Given the description of an element on the screen output the (x, y) to click on. 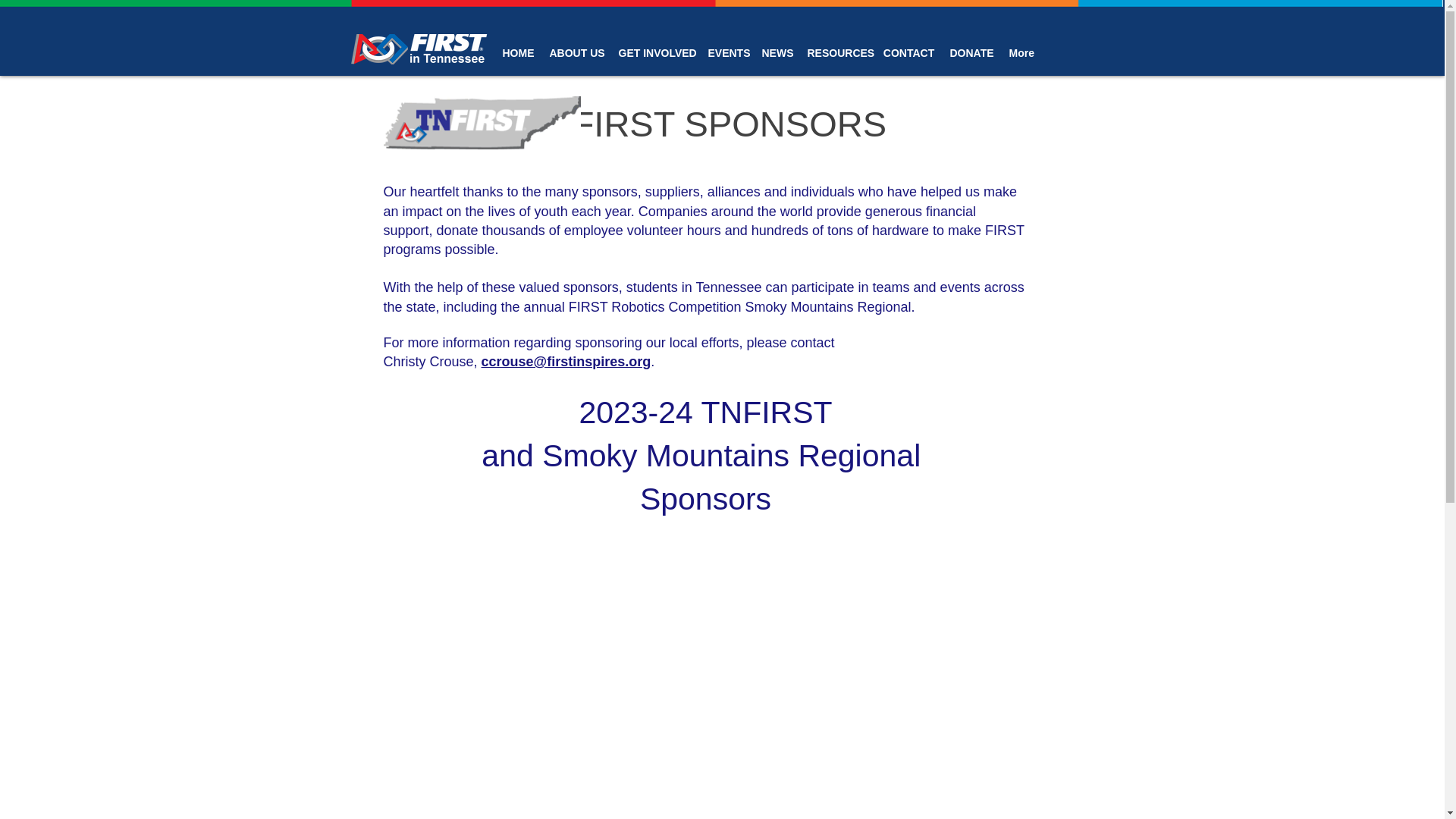
ABOUT US (575, 53)
DONATE (971, 53)
HOME (518, 53)
CONTACT (908, 53)
